Given the description of an element on the screen output the (x, y) to click on. 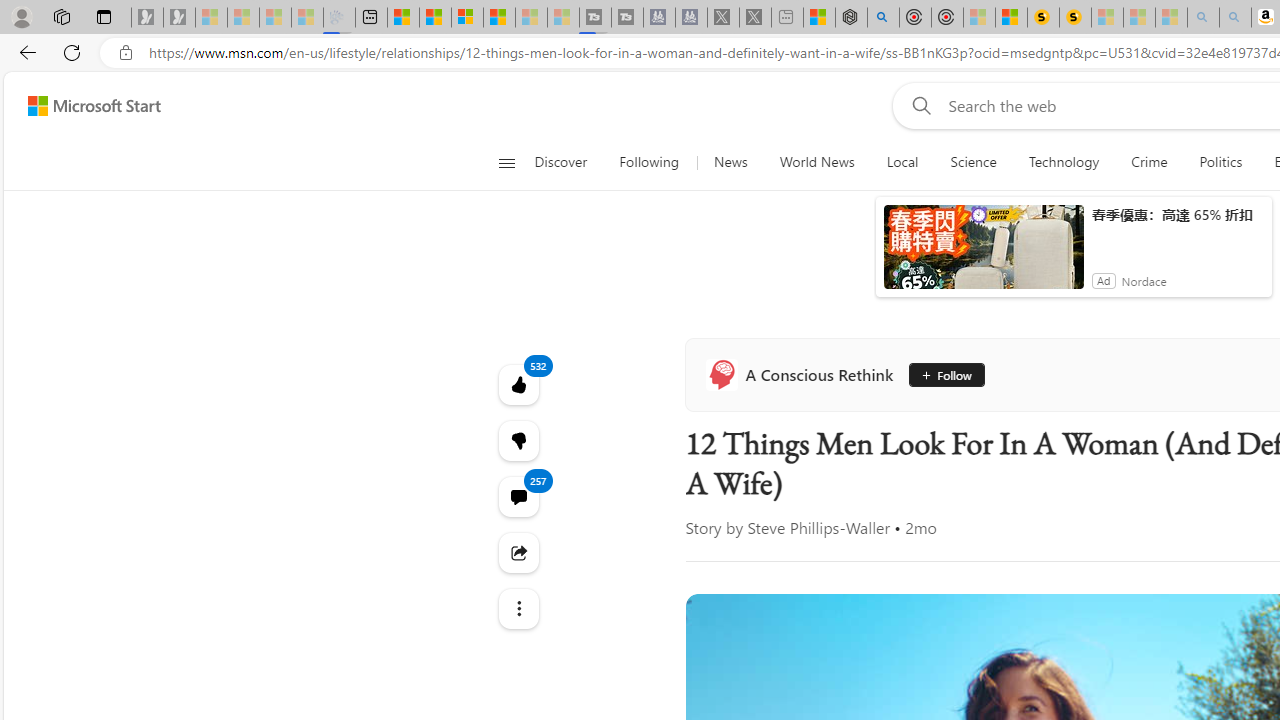
Money (876, 267)
View comments 42 Comment (1234, 575)
AutomationID: tab-21 (825, 576)
Sports (761, 267)
AutomationID: tab-16 (786, 576)
5 Like (1145, 574)
Wildlife - MSN (808, 17)
AutomationID: tab-26 (865, 576)
Housely (522, 507)
Class: icon-img (768, 632)
15 Behaviors That Signal a Lack of Self-Respect (804, 539)
AutomationID: tab-13 (756, 576)
